Given the description of an element on the screen output the (x, y) to click on. 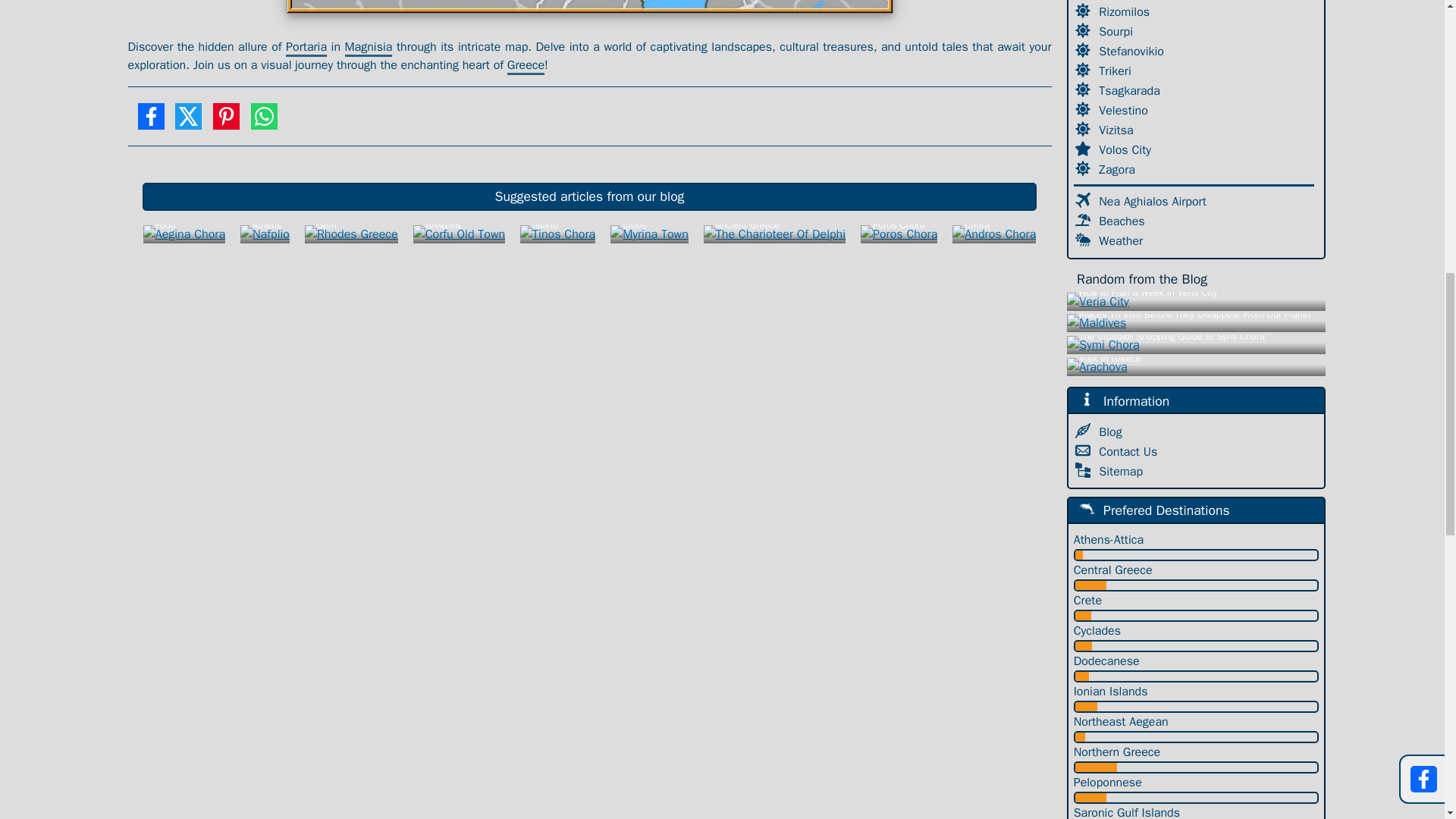
Top 10 Artifacts from Ancient Greece (774, 233)
How to Plan a Week in Veria City (1195, 301)
Food Tour of Aegina Chora: Best Restaurants and Street Food (183, 233)
Greece (525, 66)
The Best Day Trips from Athens (264, 233)
Magnisia (367, 47)
Portaria (305, 47)
WhatsApp (264, 121)
Facebook (150, 121)
